Given the description of an element on the screen output the (x, y) to click on. 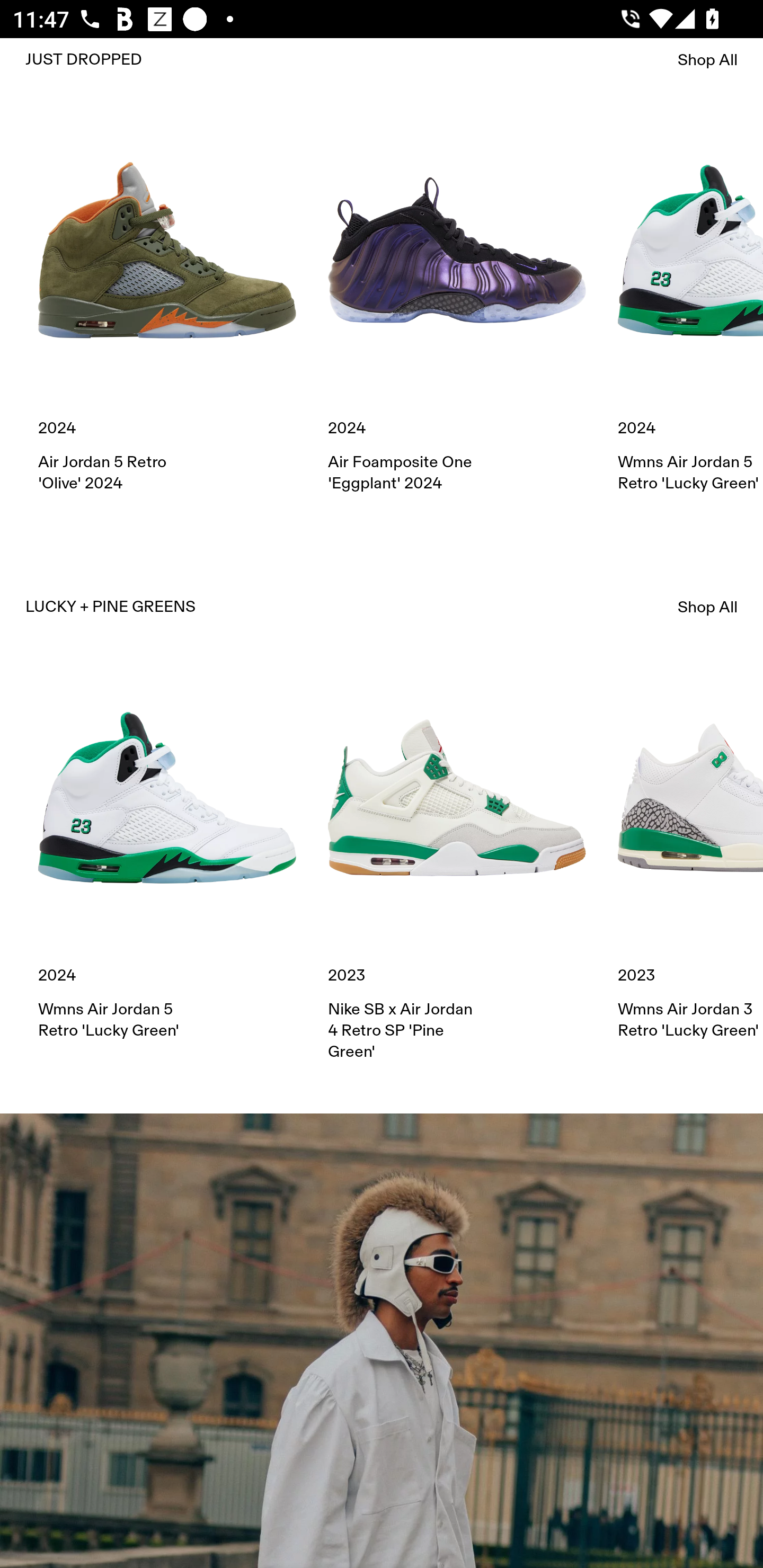
Shop All (707, 59)
2024 Air Jordan 5 Retro 'Olive' 2024 (167, 306)
2024 Air Foamposite One 'Eggplant' 2024 (456, 306)
2024 Wmns Air Jordan 5 Retro 'Lucky Green' (690, 306)
Shop All (707, 606)
2024 Wmns Air Jordan 5 Retro 'Lucky Green' (167, 854)
2023 Nike SB x Air Jordan 4 Retro SP 'Pine Green' (456, 865)
2023 Wmns Air Jordan 3 Retro 'Lucky Green' (690, 854)
